Given the description of an element on the screen output the (x, y) to click on. 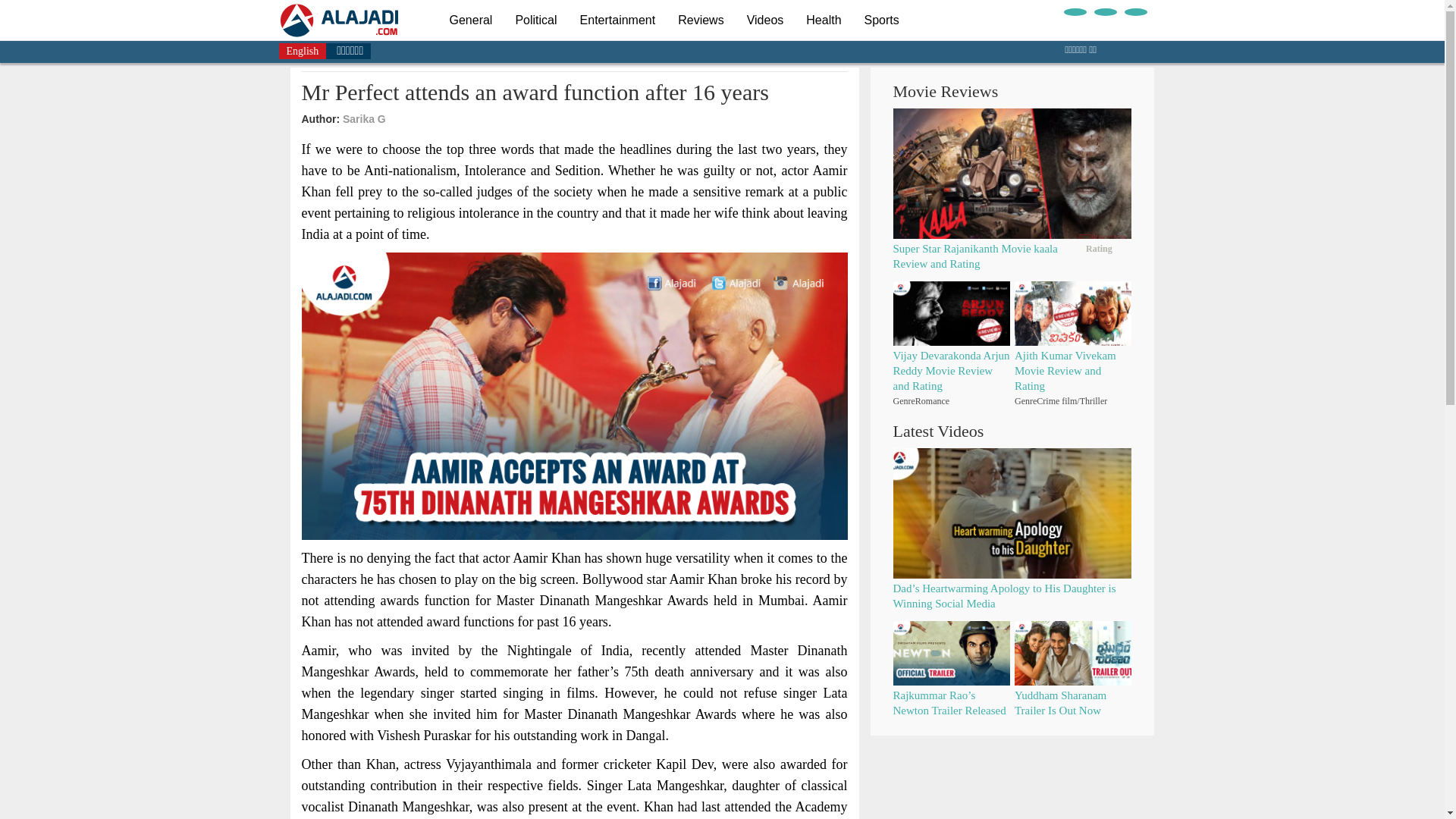
Videos (764, 20)
Sarika G (363, 119)
Super Star Rajanikanth Movie kaala Review and Rating (975, 256)
Health (822, 20)
Sports (882, 20)
Ajith Kumar Vivekam Movie Review and Rating (1065, 370)
Videos (764, 20)
Reviews (700, 20)
Twitter (1104, 11)
Yuddham Sharanam Trailer Is Out Now (1060, 702)
